Given the description of an element on the screen output the (x, y) to click on. 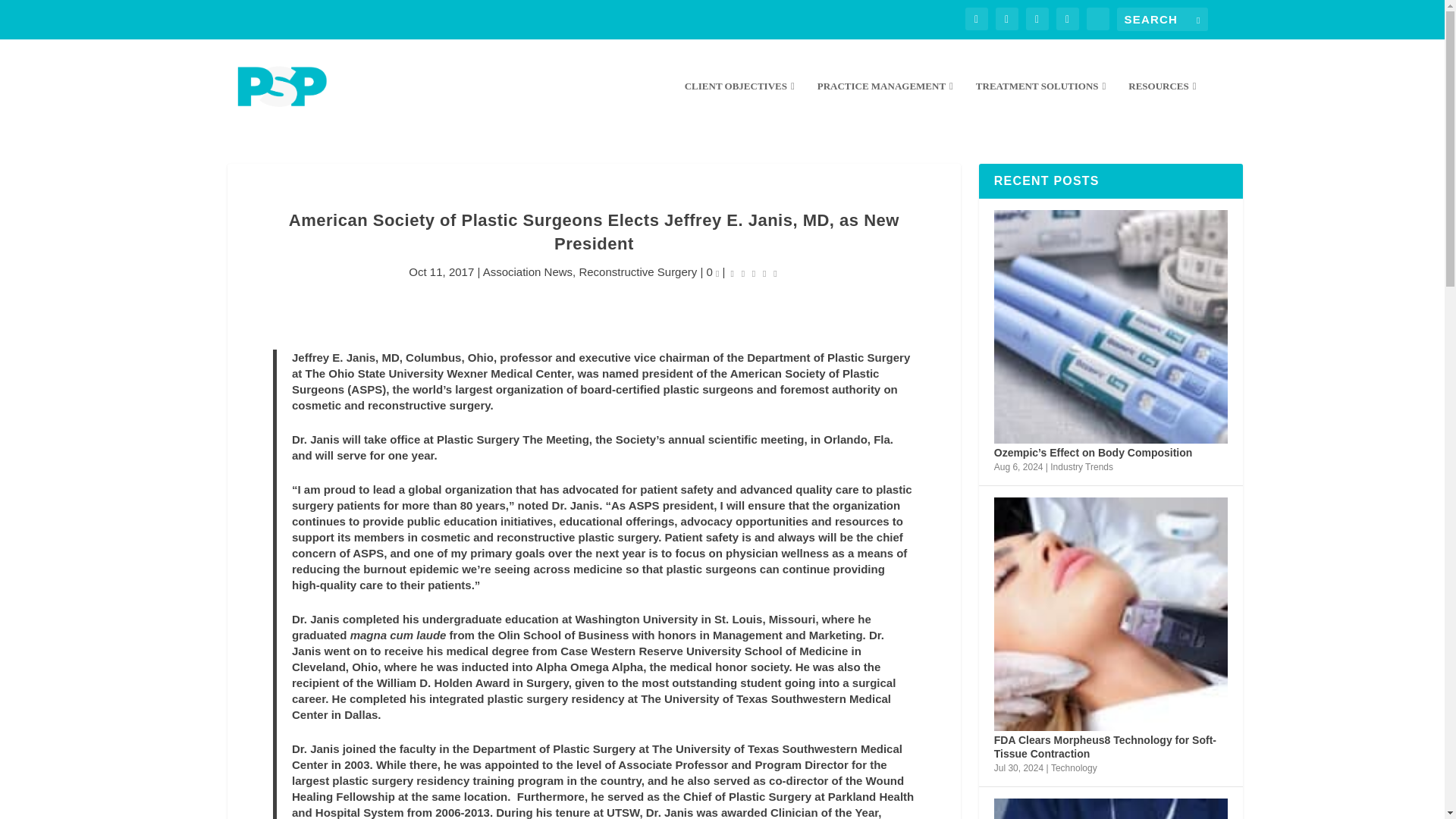
Association News (527, 271)
Rating: 0.00 (753, 272)
0 (712, 271)
CLIENT OBJECTIVES (739, 106)
Search for: (1161, 19)
FDA Clears Morpheus8 Technology for Soft-Tissue Contraction (1110, 614)
Reconstructive Surgery (637, 271)
PRACTICE MANAGEMENT (884, 106)
RESOURCES (1161, 106)
TREATMENT SOLUTIONS (1040, 106)
